Given the description of an element on the screen output the (x, y) to click on. 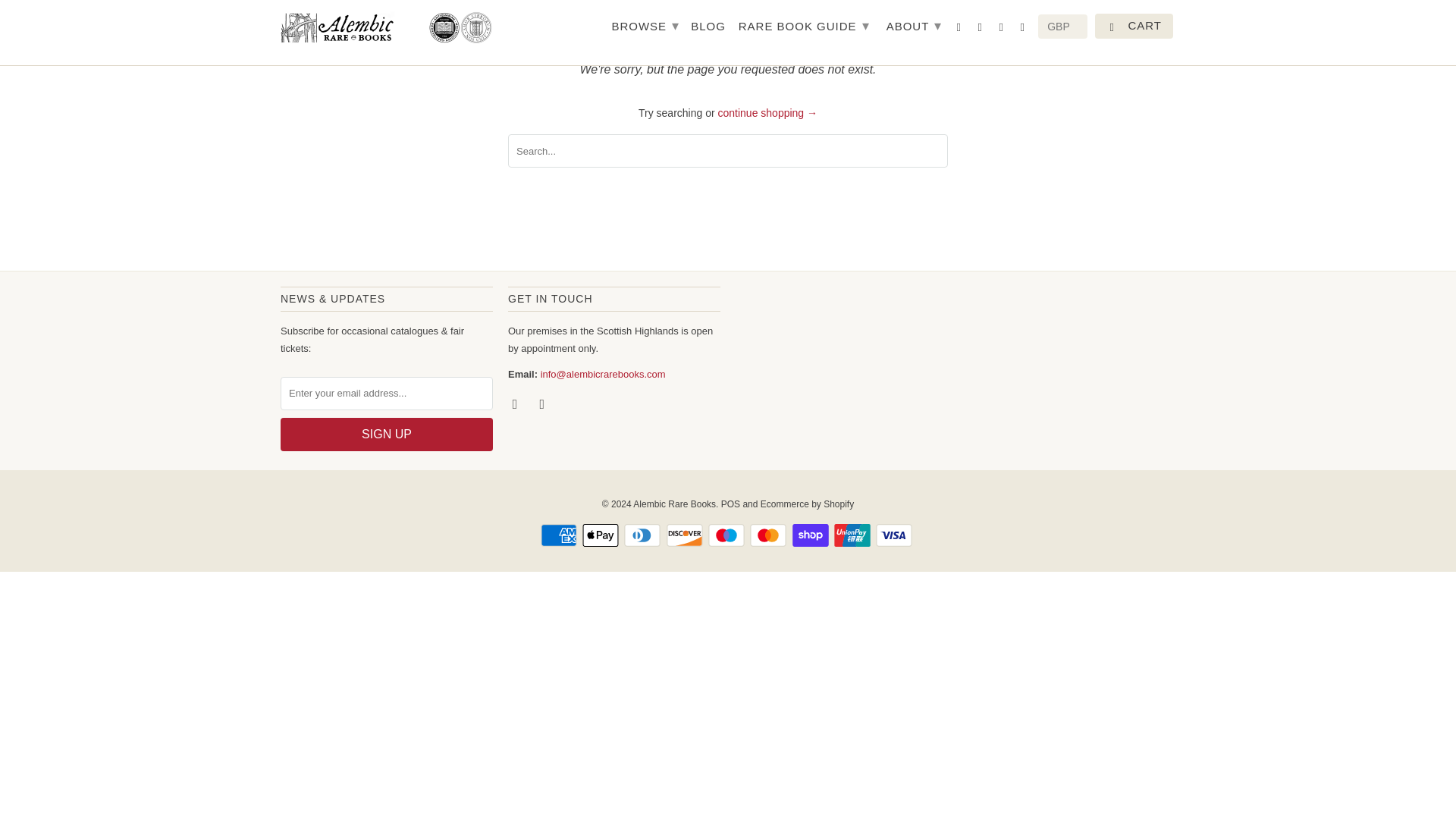
Diners Club (643, 535)
Visa (895, 535)
Maestro (727, 535)
American Express (559, 535)
Email Alembic Rare Books (543, 403)
Union Pay (853, 535)
Discover (686, 535)
Apple Pay (601, 535)
Shop Pay (811, 535)
Sign Up (387, 434)
